Given the description of an element on the screen output the (x, y) to click on. 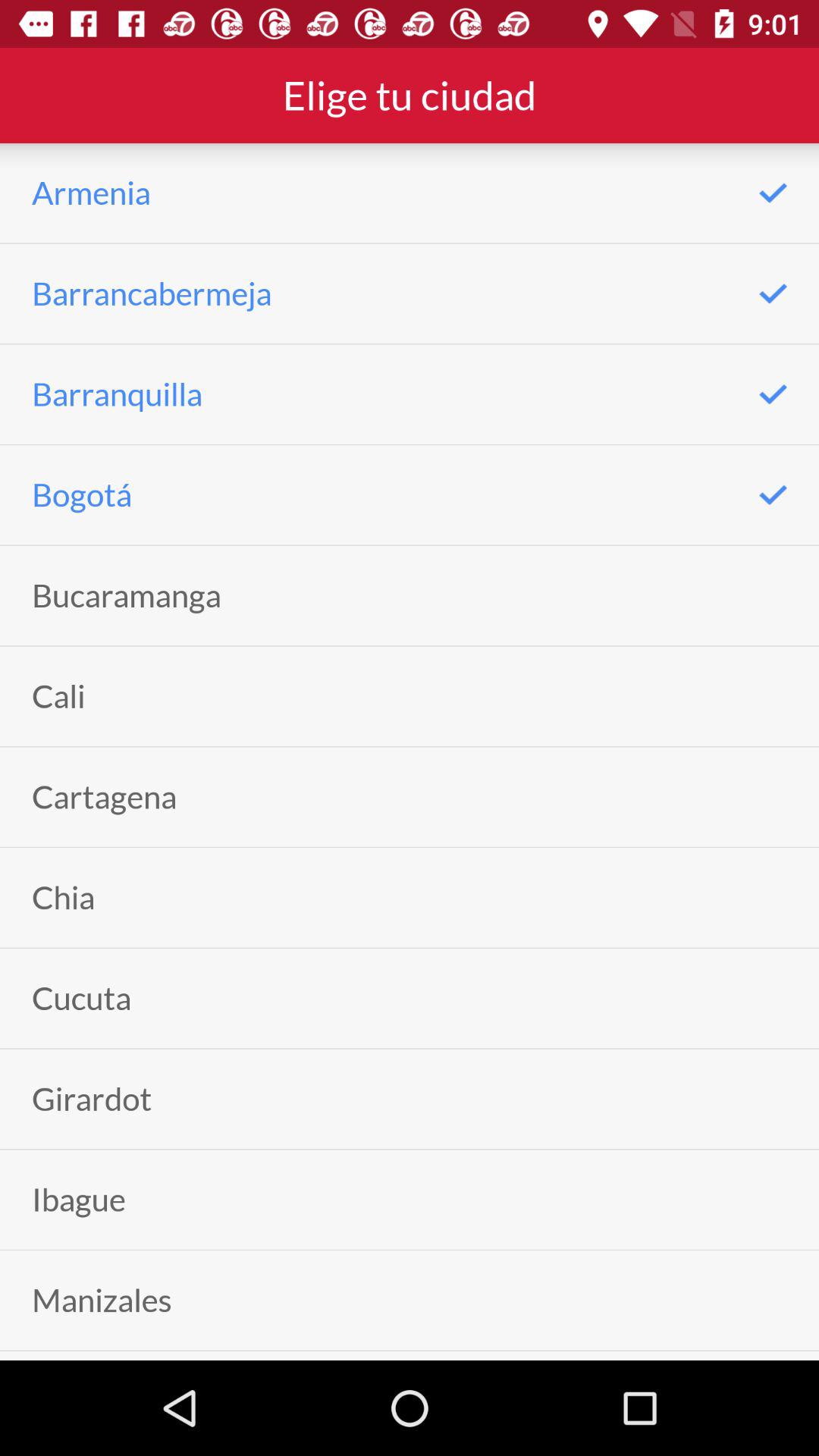
tap the icon below the cartagena app (62, 897)
